Given the description of an element on the screen output the (x, y) to click on. 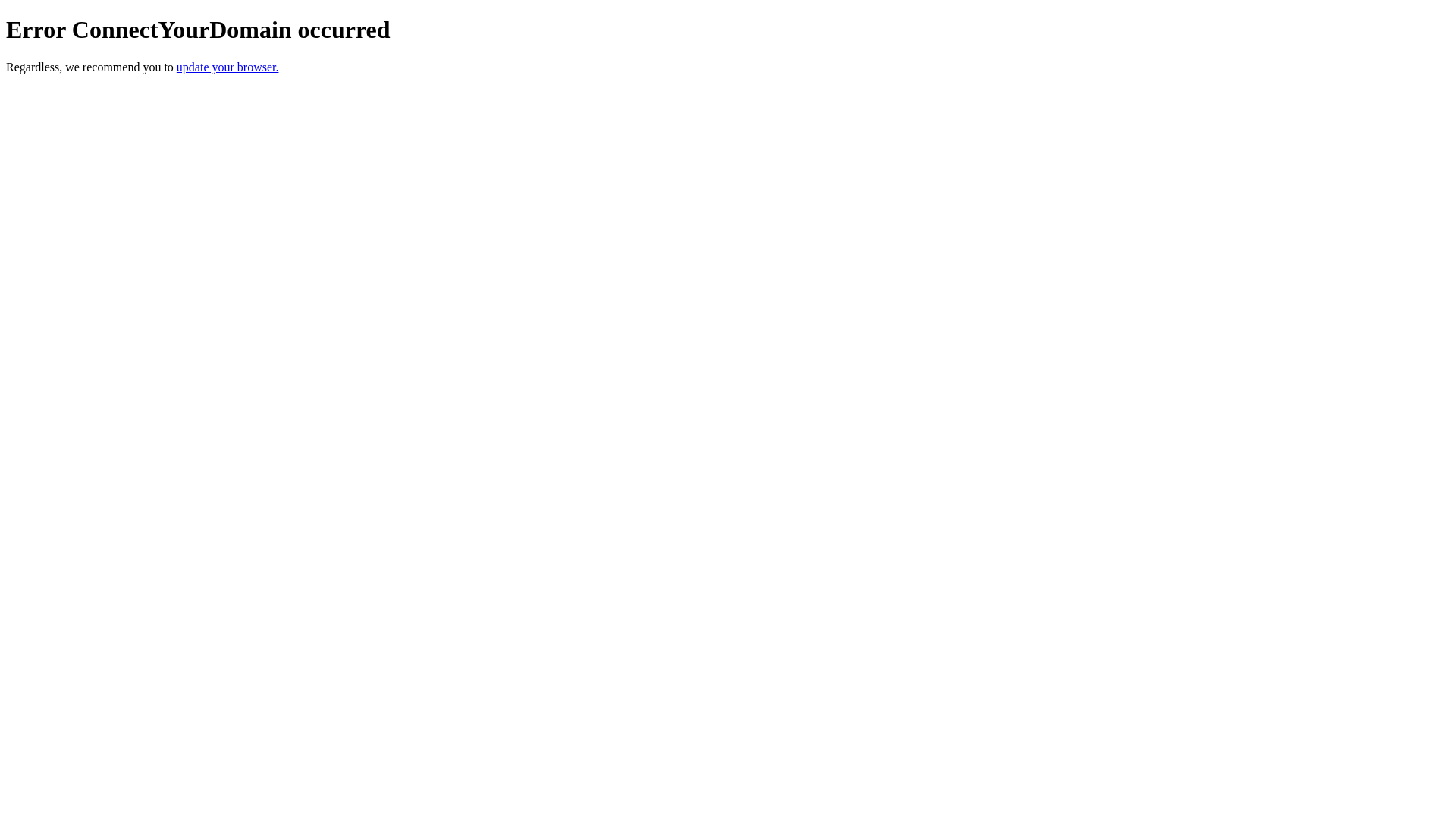
update your browser. Element type: text (227, 66)
